Given the description of an element on the screen output the (x, y) to click on. 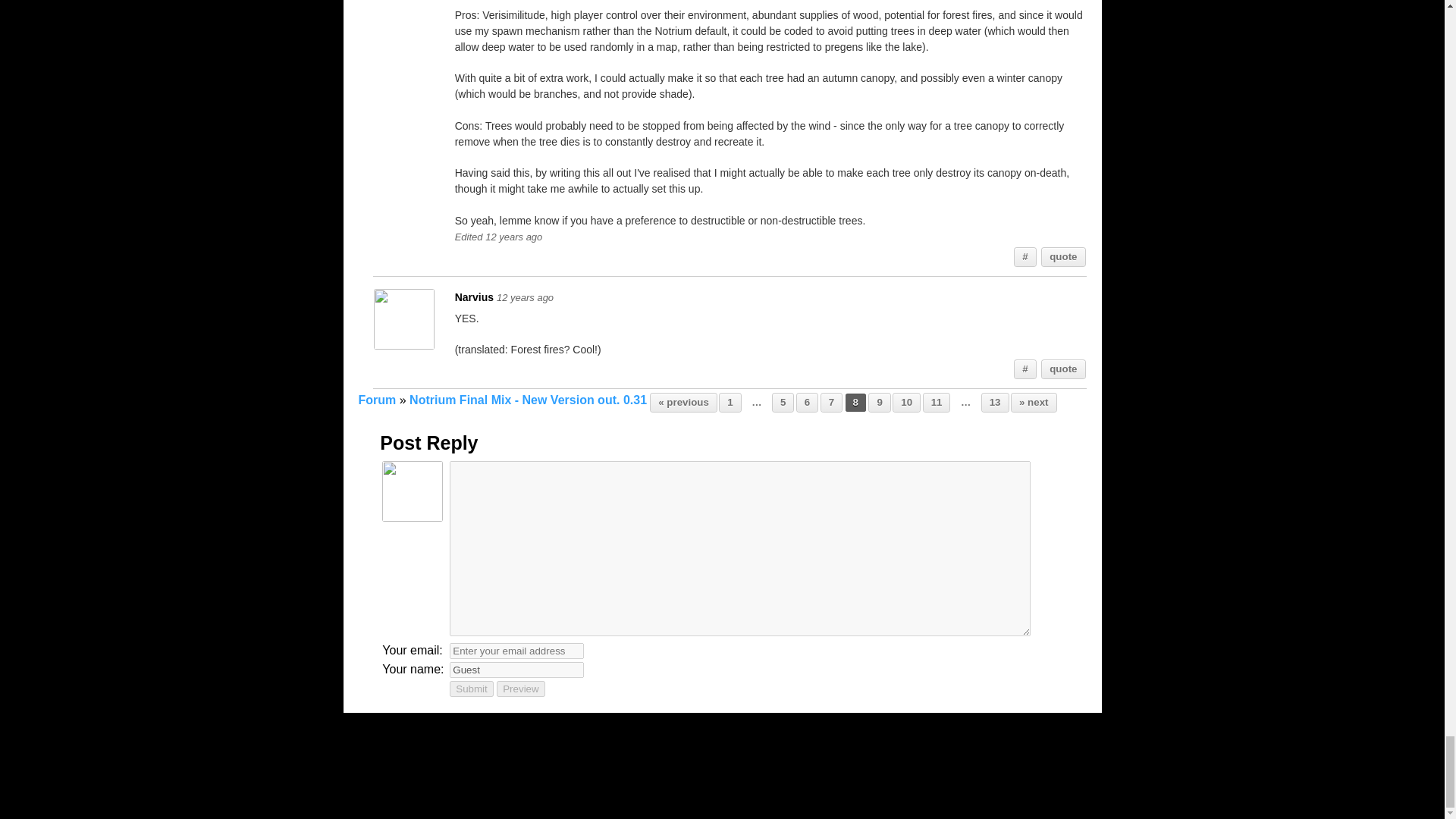
Preview (520, 688)
Guest (516, 669)
Submit (471, 688)
